Given the description of an element on the screen output the (x, y) to click on. 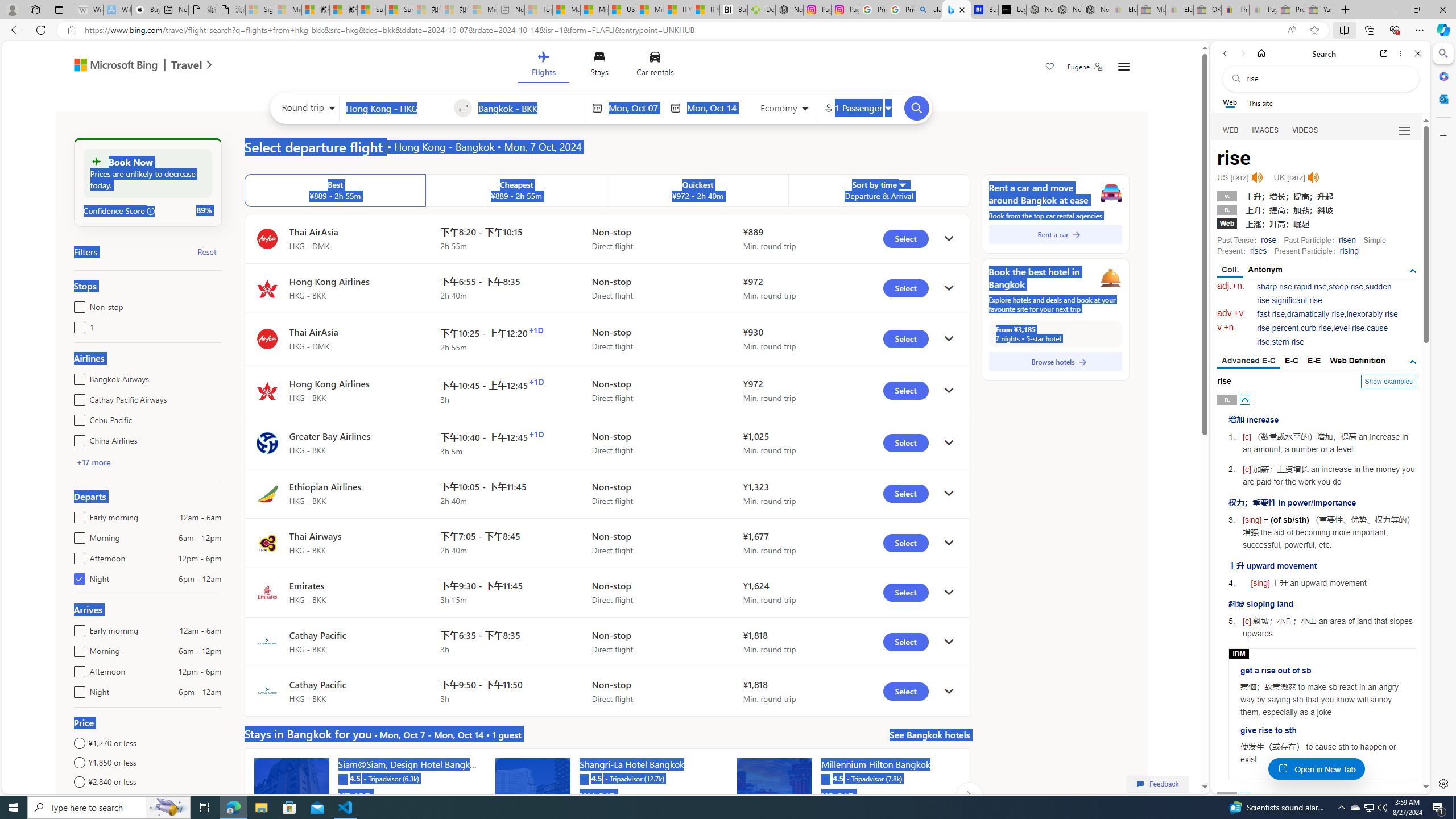
rose (1268, 239)
AutomationID: posbtn_0 (1245, 399)
steep rise (1345, 286)
China Airlines (76, 438)
Morning6am - 12pm (76, 648)
Flight logo (267, 691)
Click to listen (1313, 177)
Cathay Pacific Airways (76, 397)
Early morning12am - 6am (76, 628)
AutomationID: tgsb (1412, 270)
